Given the description of an element on the screen output the (x, y) to click on. 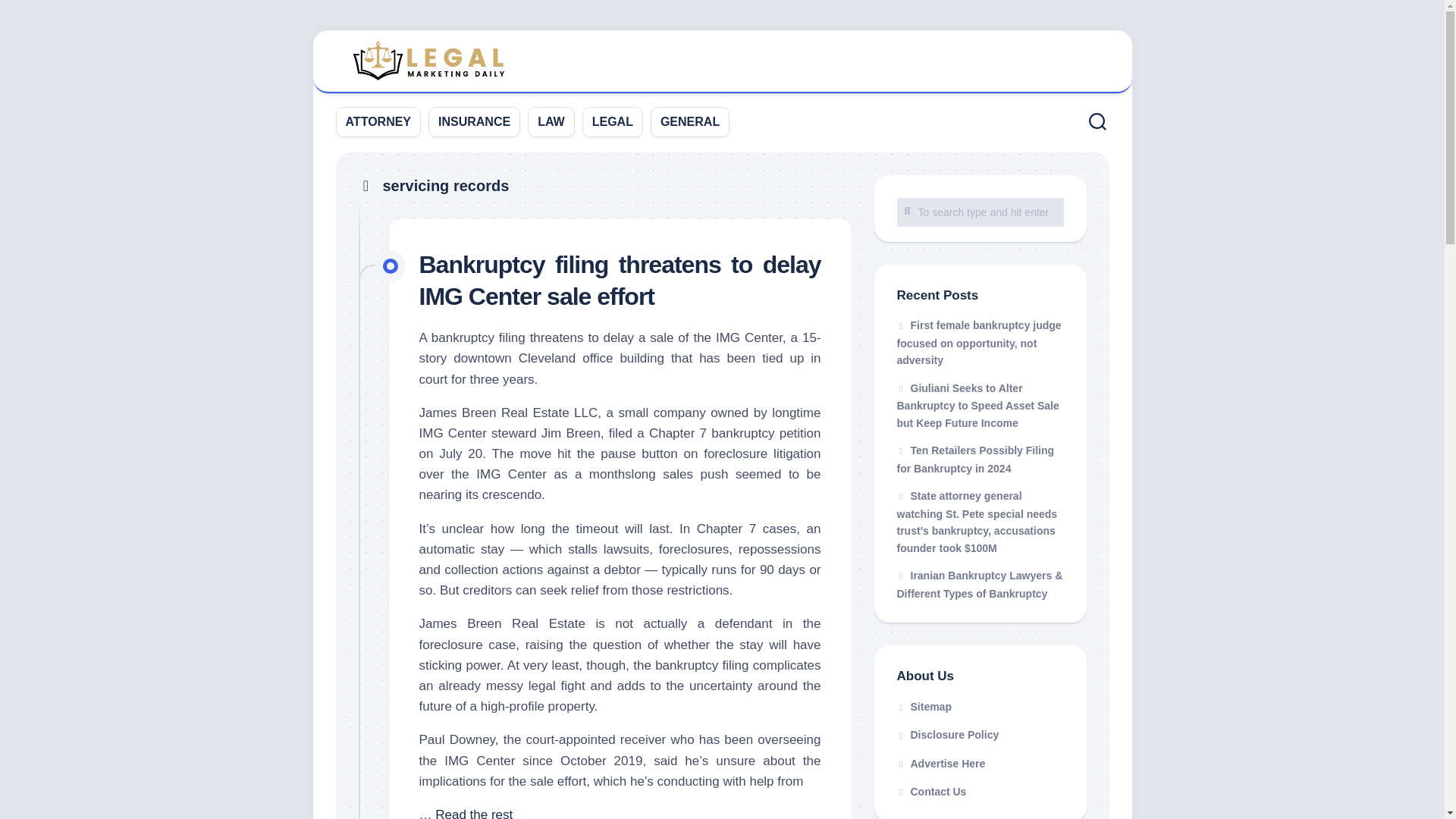
GENERAL (690, 121)
LEGAL (612, 121)
Disclosure Policy (979, 735)
Bankruptcy filing threatens to delay IMG Center sale effort (620, 280)
To search type and hit enter (979, 212)
Read the rest (473, 813)
Advertise Here (979, 764)
Contact Us (979, 792)
